Given the description of an element on the screen output the (x, y) to click on. 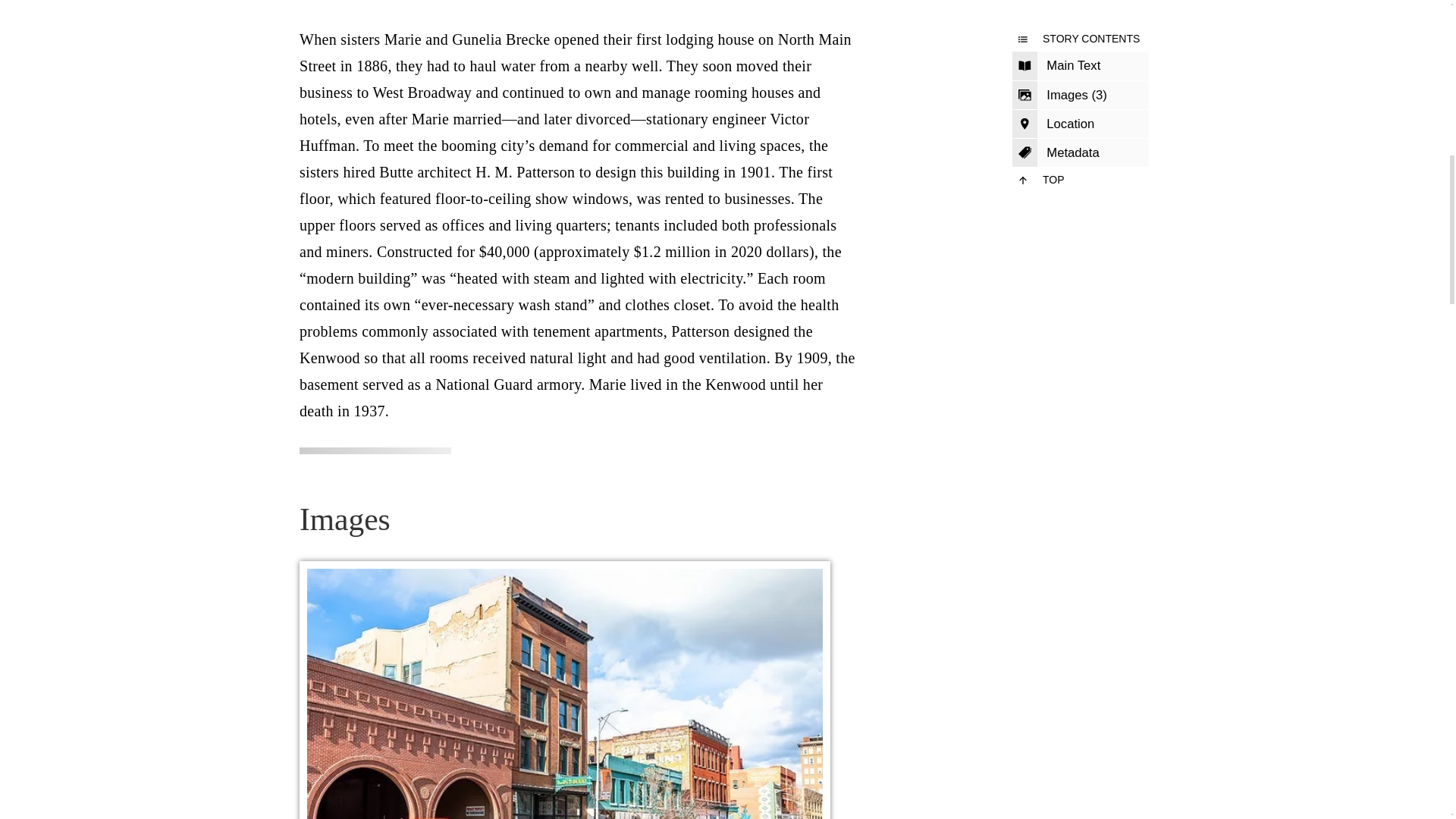
Story Contents (1079, 39)
Skip to Images (1079, 95)
Skip to Main Text (1079, 65)
Location (1079, 123)
Main Text (1079, 65)
Skip to Map Location (1079, 123)
Metadata (1079, 152)
Return to Top (1079, 180)
Skip to Metadata (1079, 152)
TOP (1079, 180)
